Given the description of an element on the screen output the (x, y) to click on. 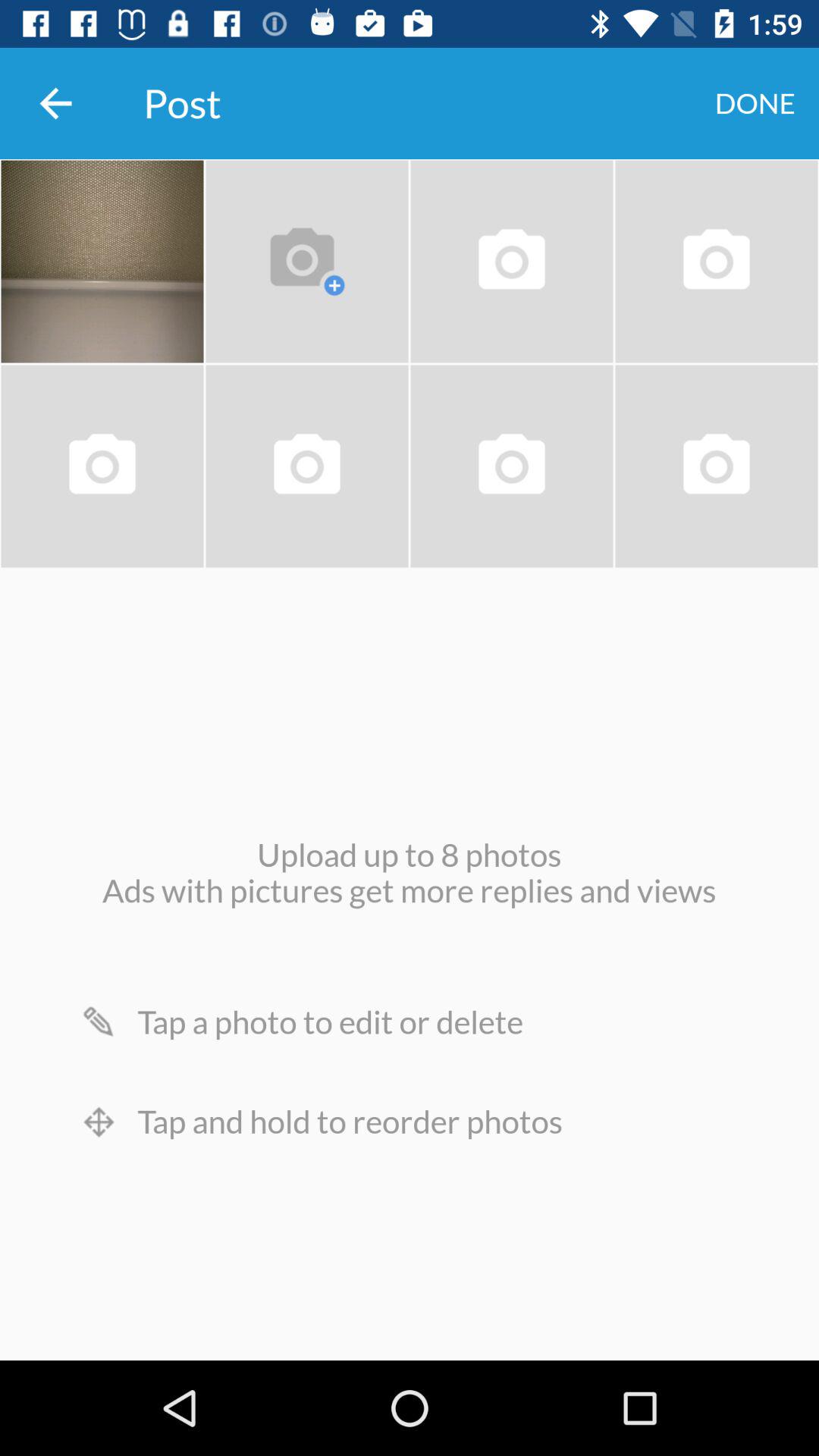
launch the icon to the left of post icon (55, 103)
